Given the description of an element on the screen output the (x, y) to click on. 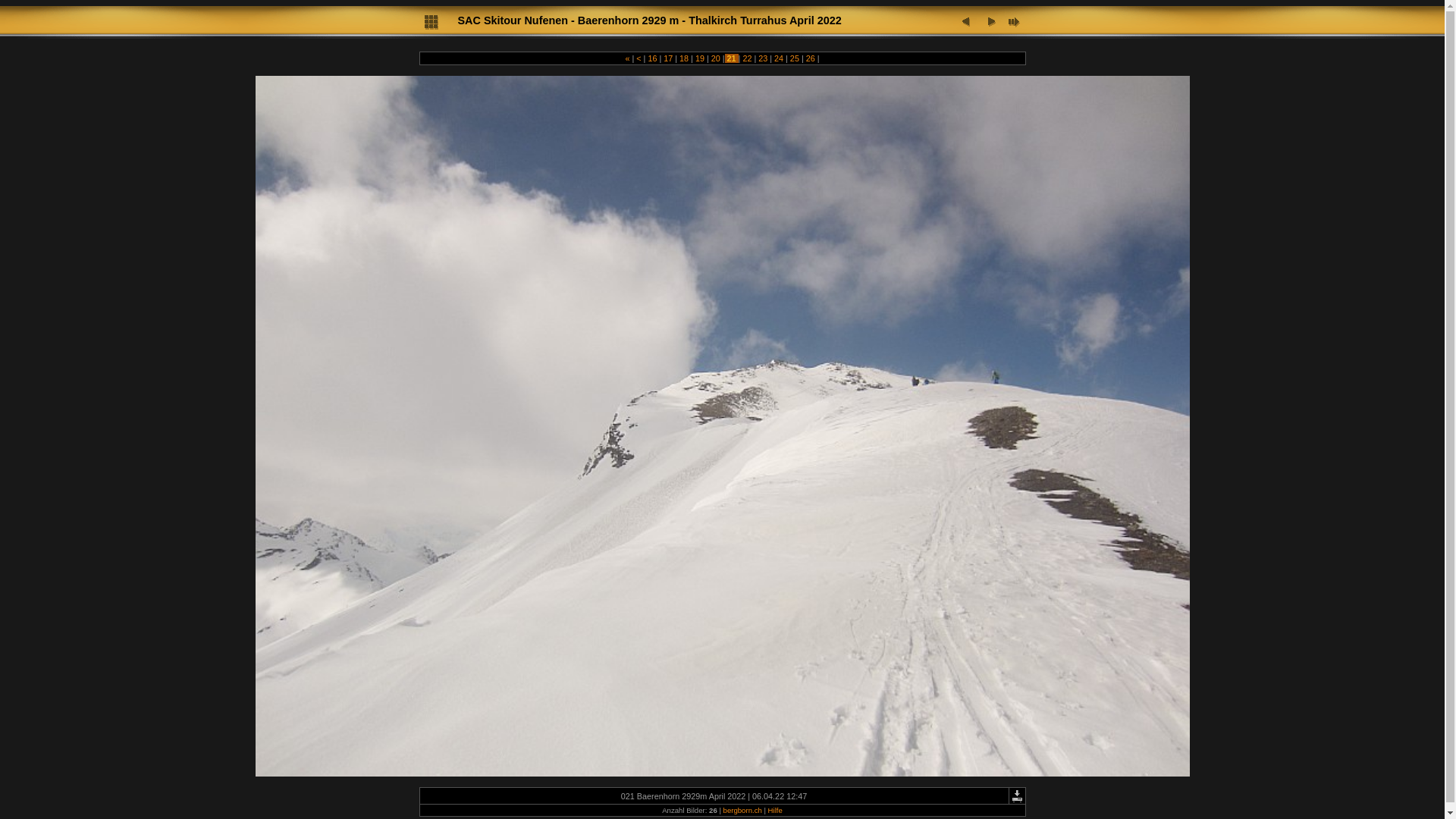
18 Element type: text (683, 57)
bergborn.ch Element type: text (742, 810)
17 Element type: text (667, 57)
 Bild speichern  Element type: hover (1016, 795)
26 Element type: text (810, 57)
22 Element type: text (746, 57)
25 Element type: text (794, 57)
16 Element type: text (651, 57)
< Element type: text (638, 57)
Hilfe Element type: text (775, 810)
 Index  Element type: hover (430, 20)
19 Element type: text (699, 57)
 Voriges Bild  Element type: hover (967, 20)
24 Element type: text (778, 57)
20 Element type: text (715, 57)
23 Element type: text (762, 57)
